Given the description of an element on the screen output the (x, y) to click on. 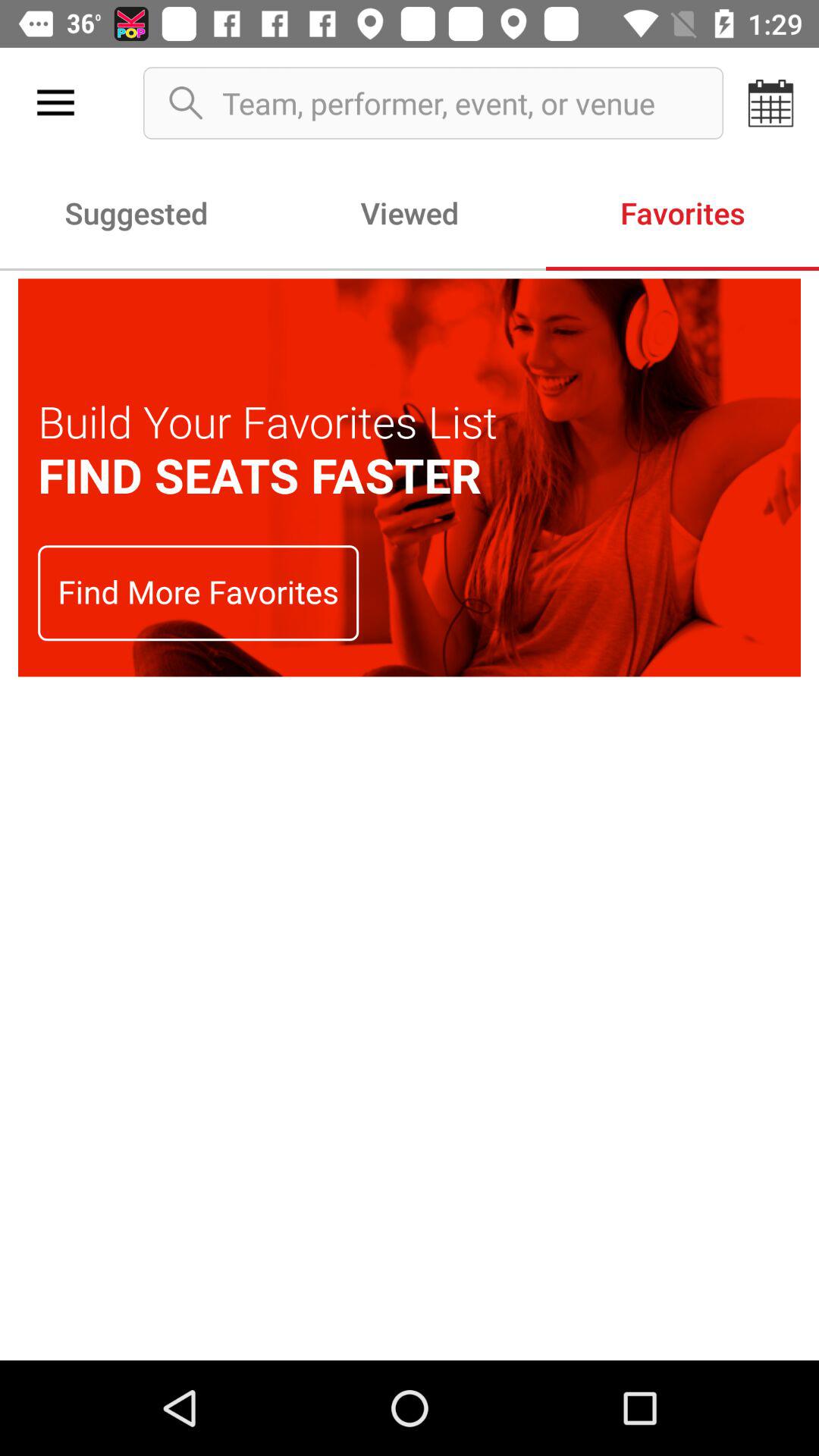
turn on the item above suggested item (55, 103)
